Given the description of an element on the screen output the (x, y) to click on. 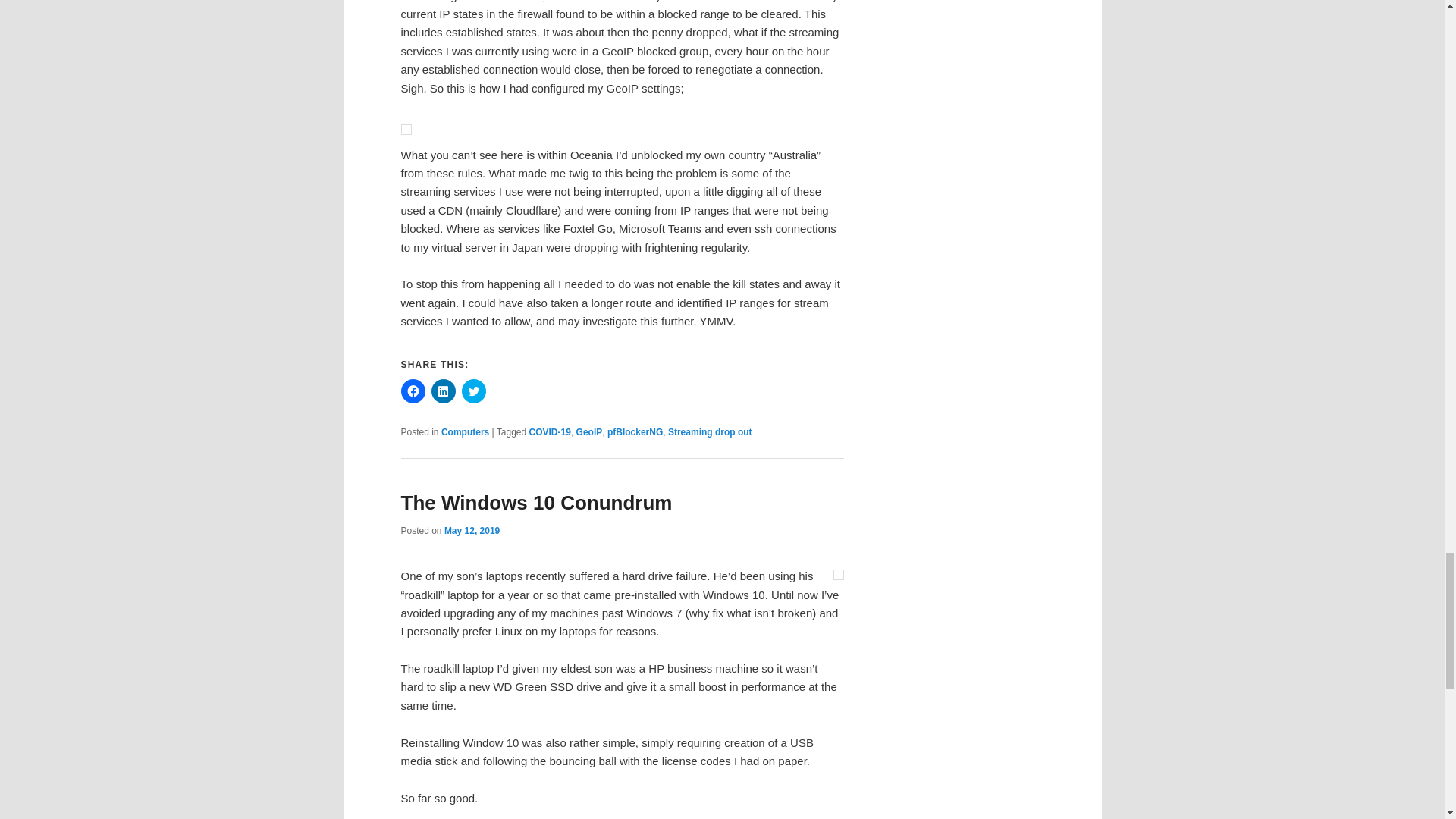
Click to share on Facebook (412, 391)
Click to share on LinkedIn (442, 391)
Click to share on Twitter (472, 391)
